Given the description of an element on the screen output the (x, y) to click on. 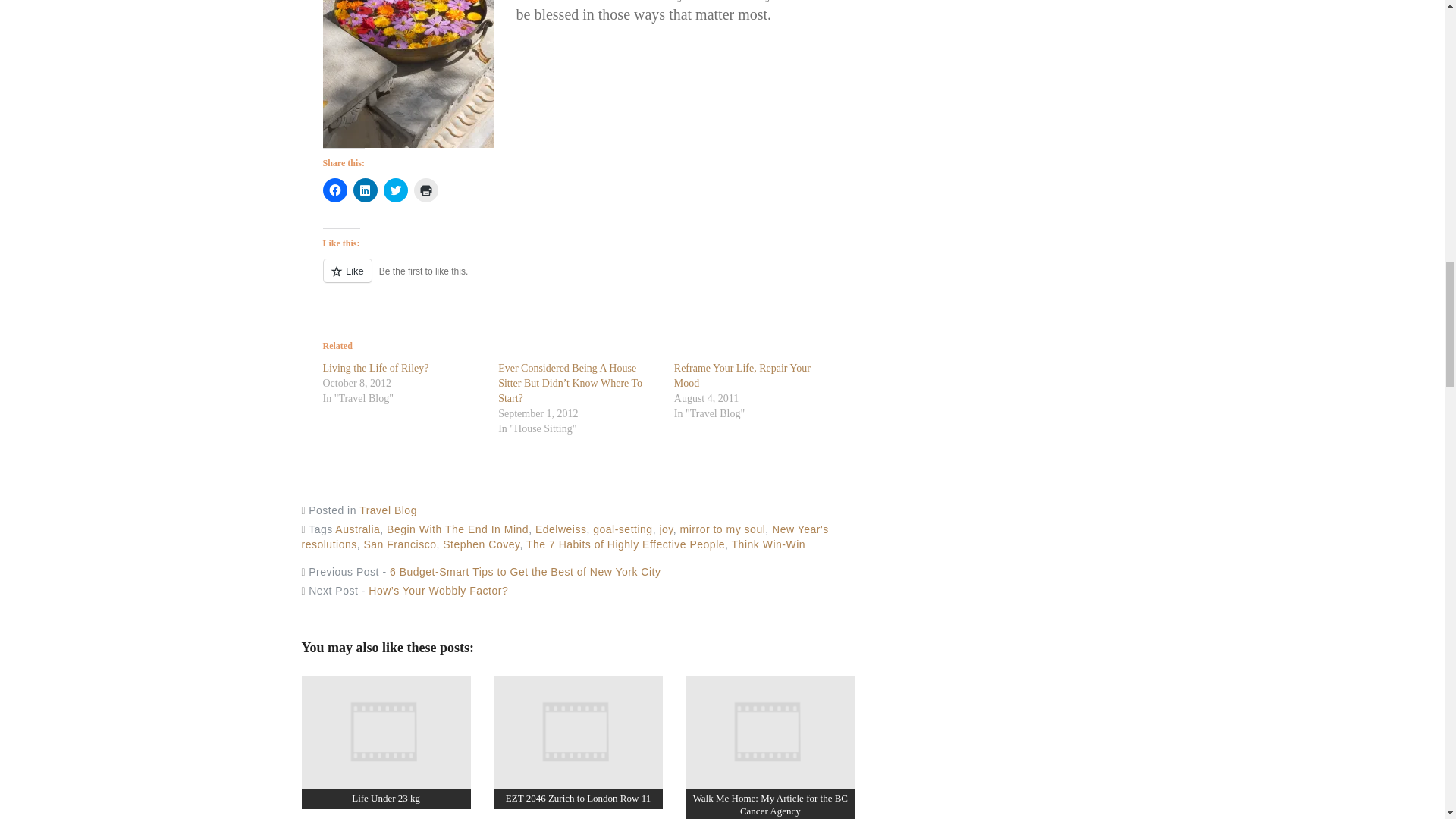
EZT 2046 Zurich to London Row 11 (577, 797)
Life Under 23 kg (386, 797)
Travel Blog (387, 510)
Click to share on LinkedIn (365, 190)
mirror to my soul (722, 529)
joy (665, 529)
goal-setting (622, 529)
Edelweiss (560, 529)
Reframe Your Life, Repair Your Mood (742, 375)
Like or Reblog (589, 279)
Living the Life of Riley? (376, 367)
Reframe Your Life, Repair Your Mood (742, 375)
Click to print (425, 190)
Click to share on Twitter (395, 190)
EZT 2046 Zurich to London Row 11 (577, 731)
